Given the description of an element on the screen output the (x, y) to click on. 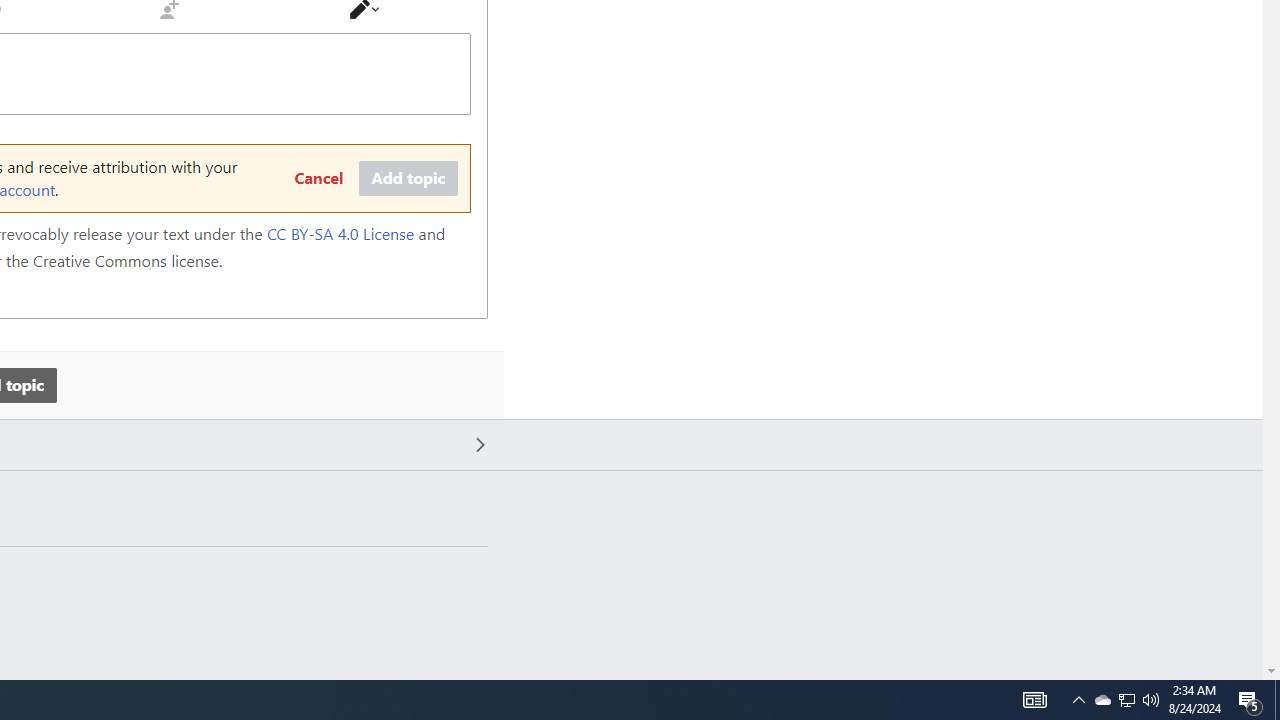
Add topic (408, 179)
Cancel (318, 179)
CC BY-SA 4.0 License (340, 233)
